Given the description of an element on the screen output the (x, y) to click on. 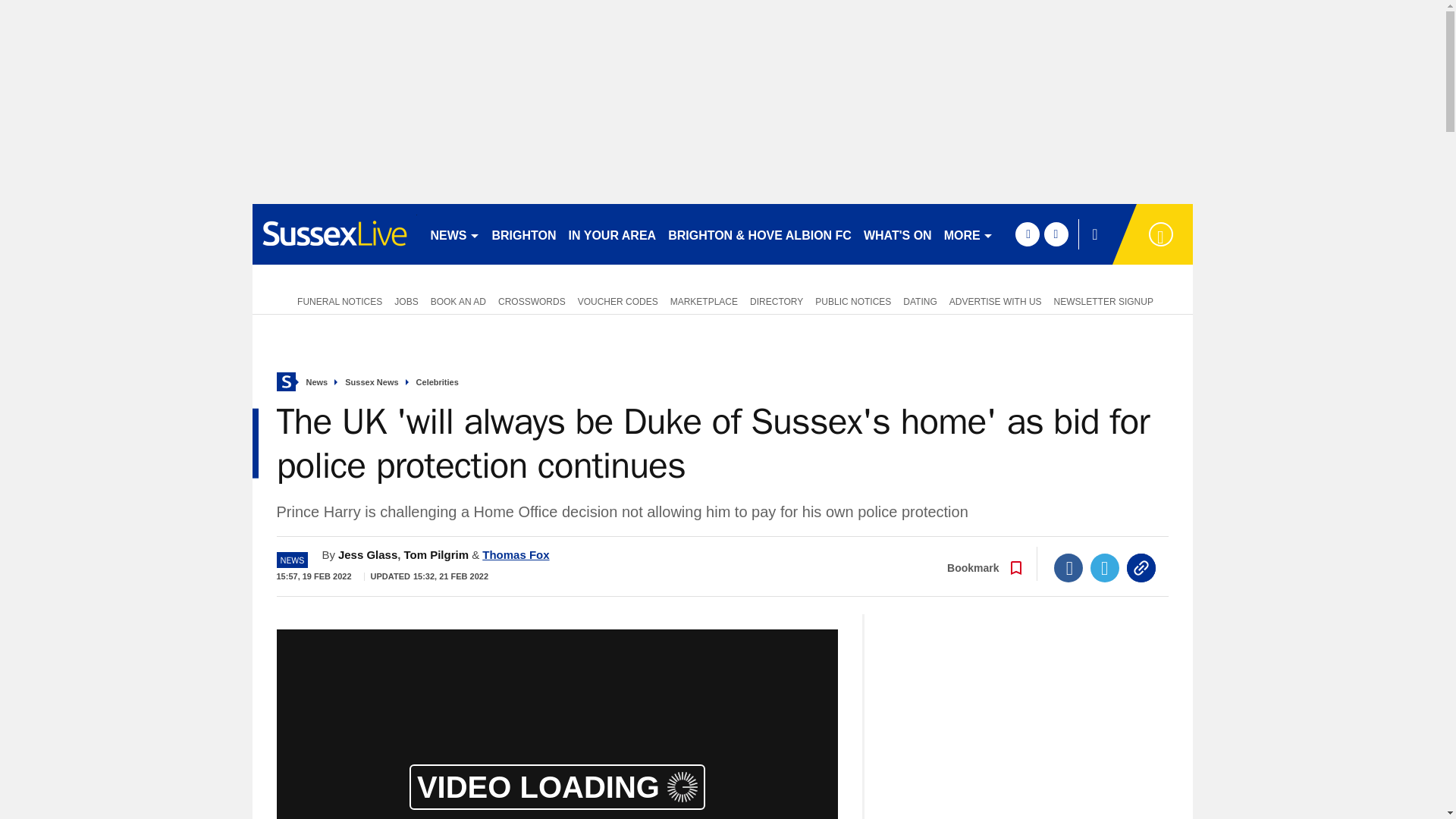
sussexlive (333, 233)
Twitter (1104, 567)
BOOK AN AD (458, 300)
CROSSWORDS (532, 300)
twitter (1055, 233)
Facebook (1068, 567)
MORE (967, 233)
BRIGHTON (523, 233)
DIRECTORY (776, 300)
PUBLIC NOTICES (852, 300)
